Given the description of an element on the screen output the (x, y) to click on. 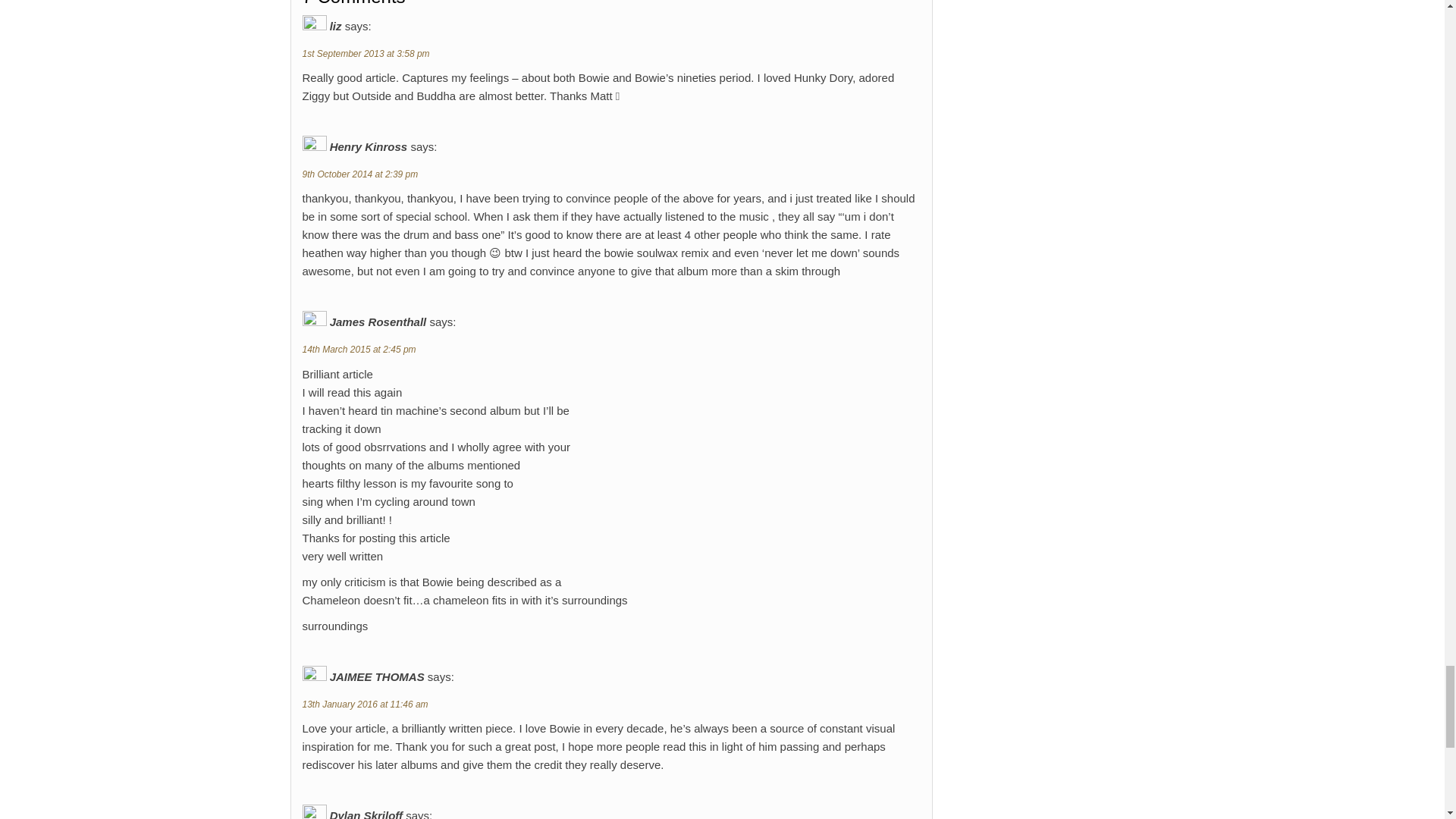
14th March 2015 at 2:45 pm (357, 348)
9th October 2014 at 2:39 pm (359, 173)
1st September 2013 at 3:58 pm (365, 53)
13th January 2016 at 11:46 am (364, 704)
